Given the description of an element on the screen output the (x, y) to click on. 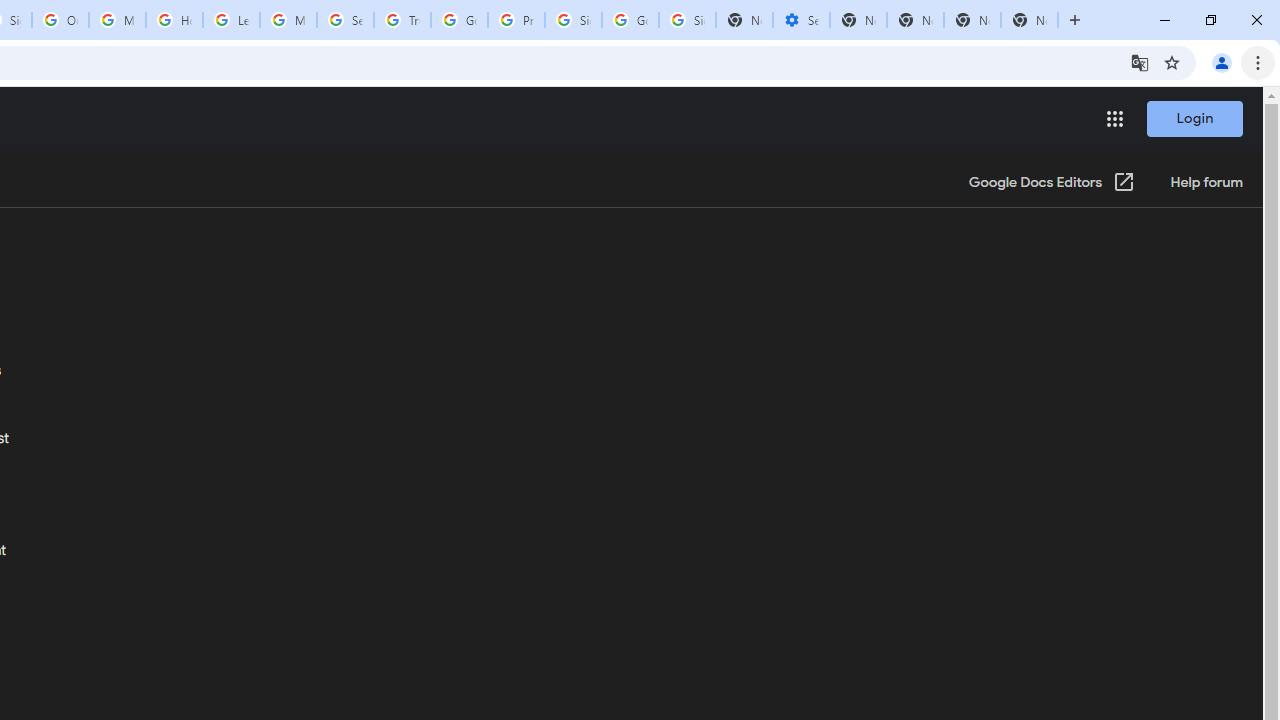
Google Cybersecurity Innovations - Google Safety Center (630, 20)
Trusted Information and Content - Google Safety Center (402, 20)
Sign in - Google Accounts (687, 20)
Google Ads - Sign in (459, 20)
New Tab (1029, 20)
